Given the description of an element on the screen output the (x, y) to click on. 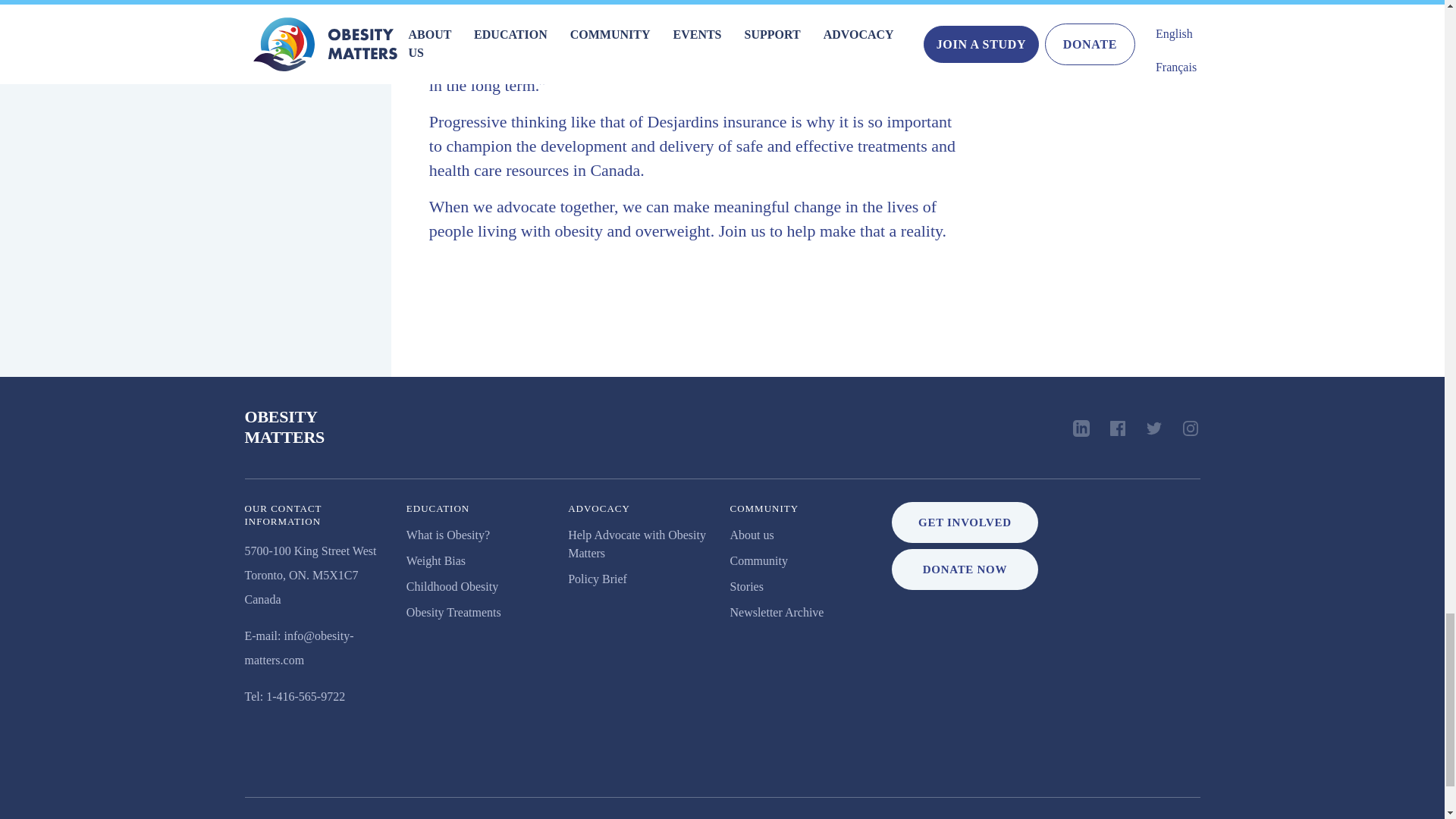
Childhood Obesity (284, 426)
What is Obesity? (451, 585)
Obesity Treatments (447, 534)
Weight Bias (453, 612)
Help Advocate with Obesity Matters (435, 560)
